Given the description of an element on the screen output the (x, y) to click on. 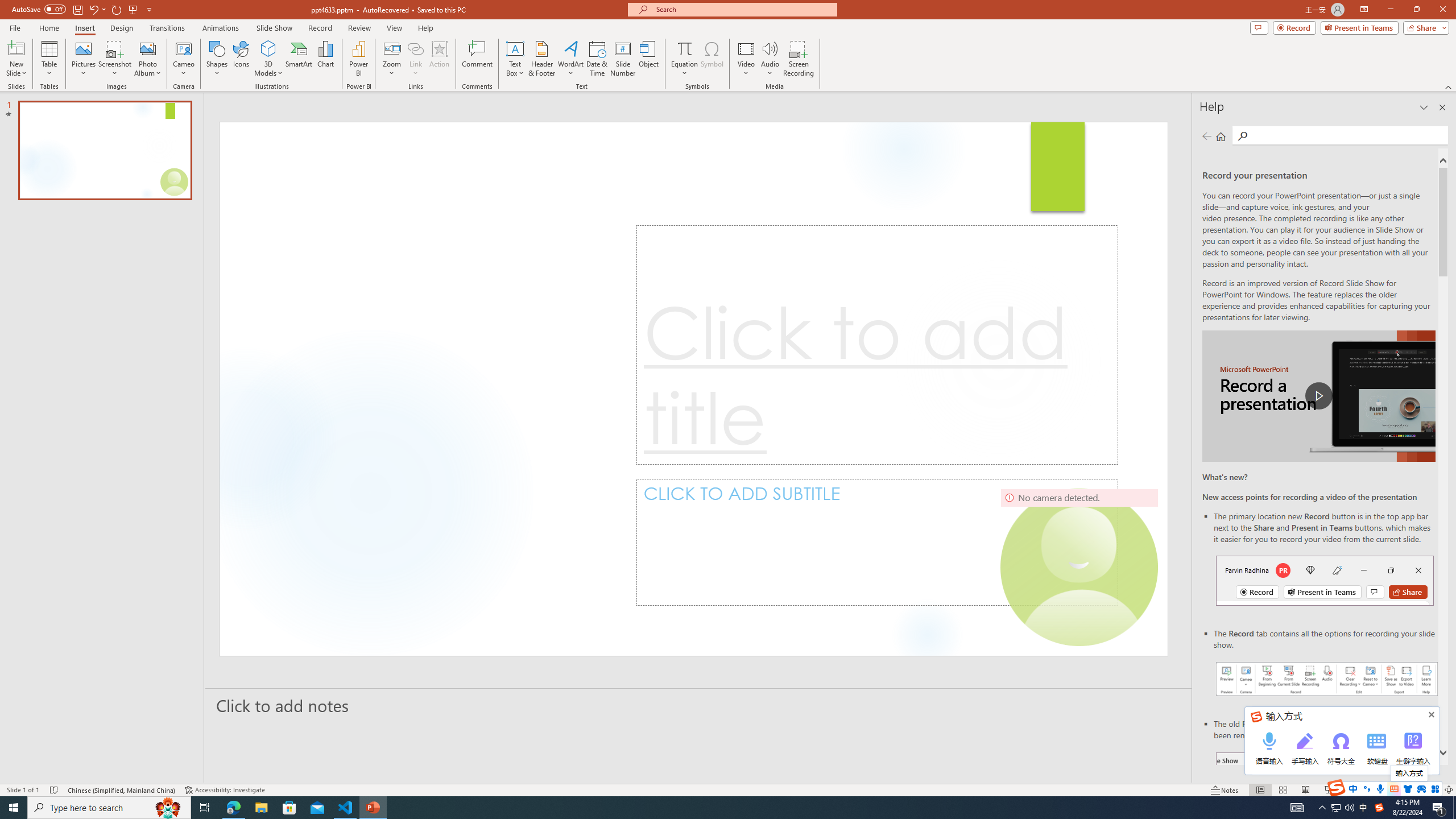
Symbol... (711, 58)
Zoom 131% (1430, 790)
Record button in top bar (1324, 580)
